Given the description of an element on the screen output the (x, y) to click on. 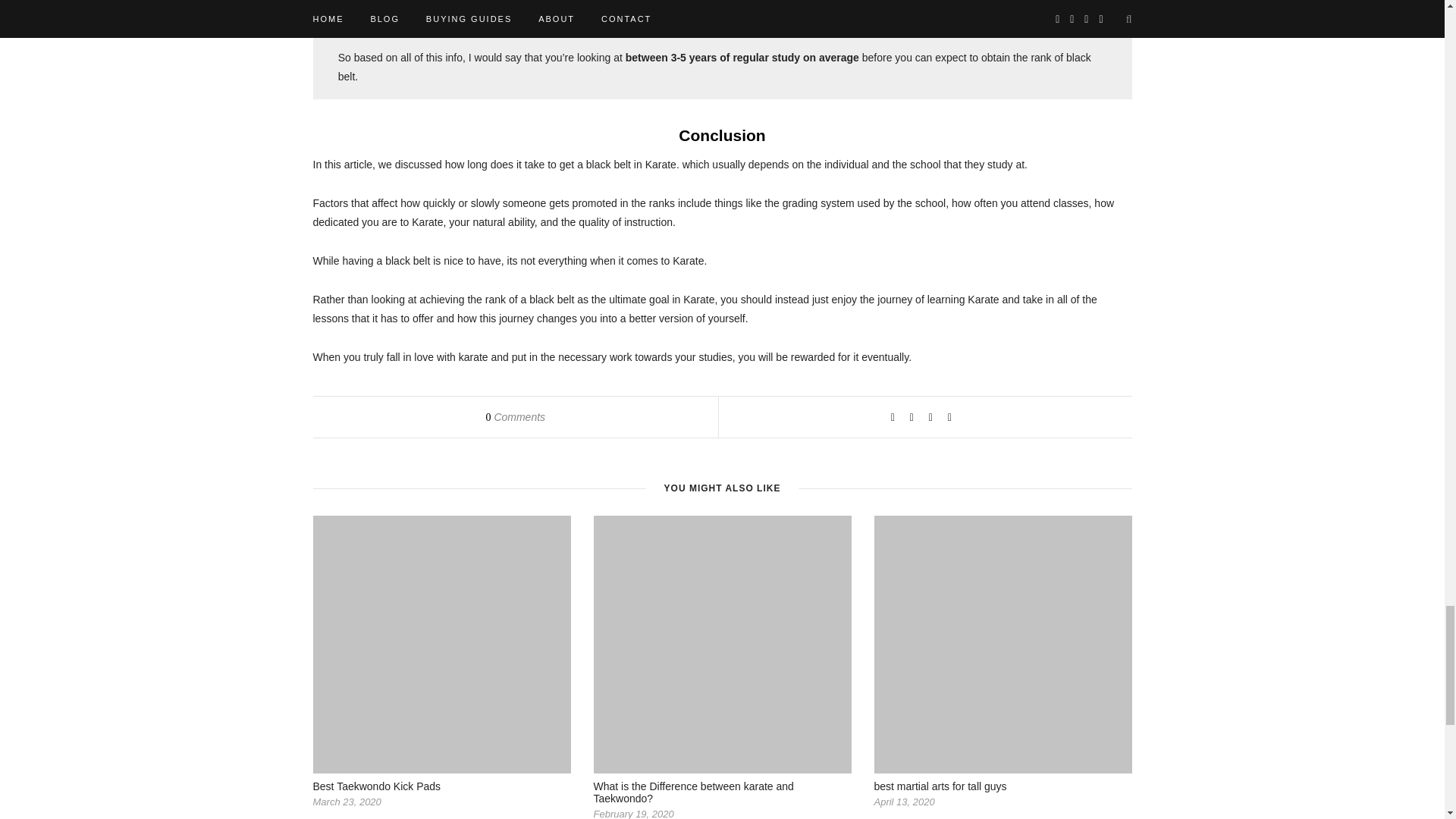
Best Taekwondo Kick Pads (377, 786)
What is the Difference between karate and Taekwondo? (692, 792)
best martial arts for tall guys (939, 786)
0 Comments (514, 417)
